Given the description of an element on the screen output the (x, y) to click on. 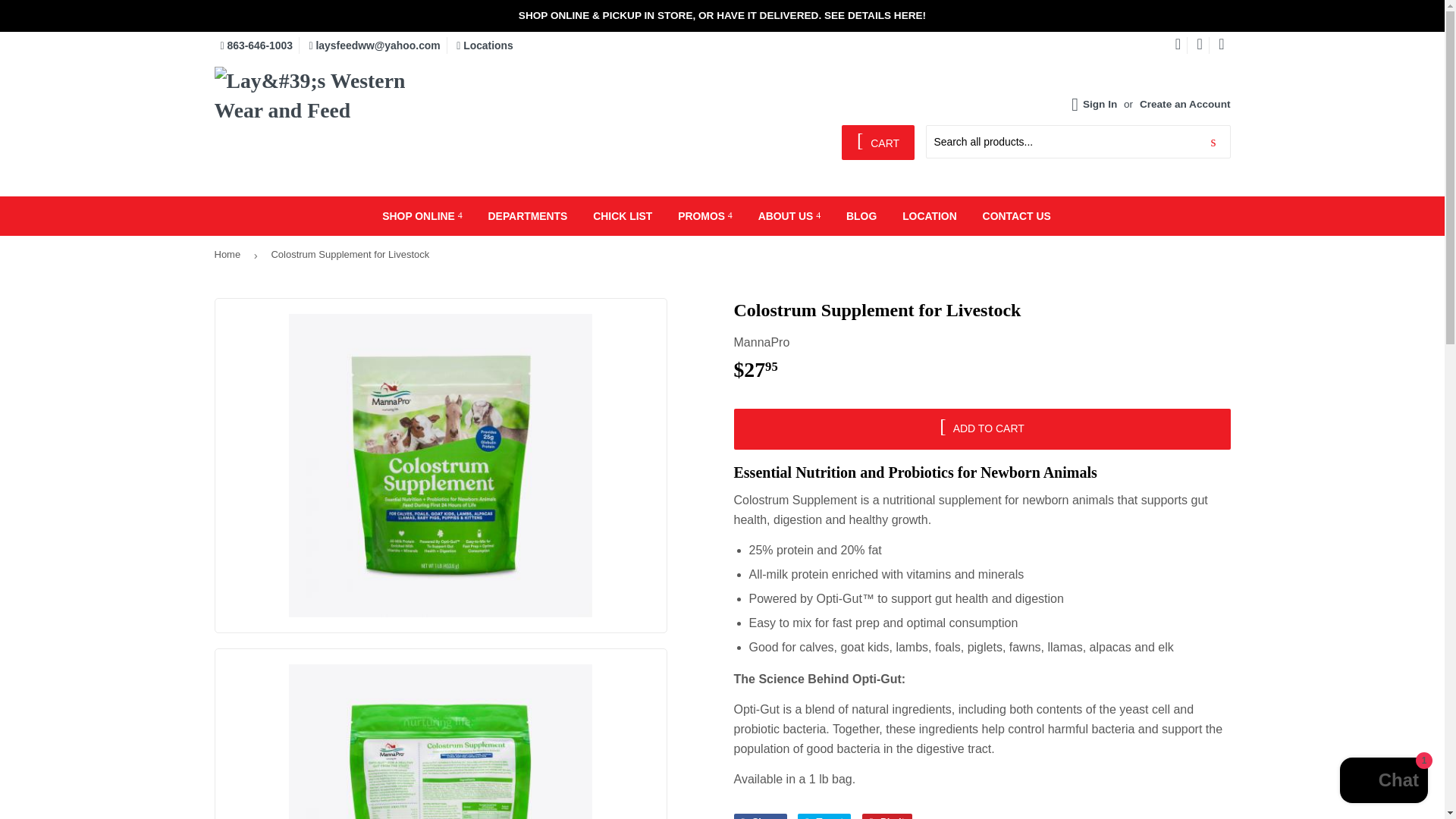
Sign In (1099, 103)
Create an Account (1185, 103)
 Locations (485, 45)
SEARCH (1213, 142)
Open Product Zoom (441, 465)
 863-646-1003 (255, 45)
Pin on Pinterest (886, 816)
Shopify online store chat (1383, 781)
Open Product Zoom (441, 741)
Tweet on Twitter (823, 816)
CART (877, 142)
Share on Facebook (760, 816)
